Given the description of an element on the screen output the (x, y) to click on. 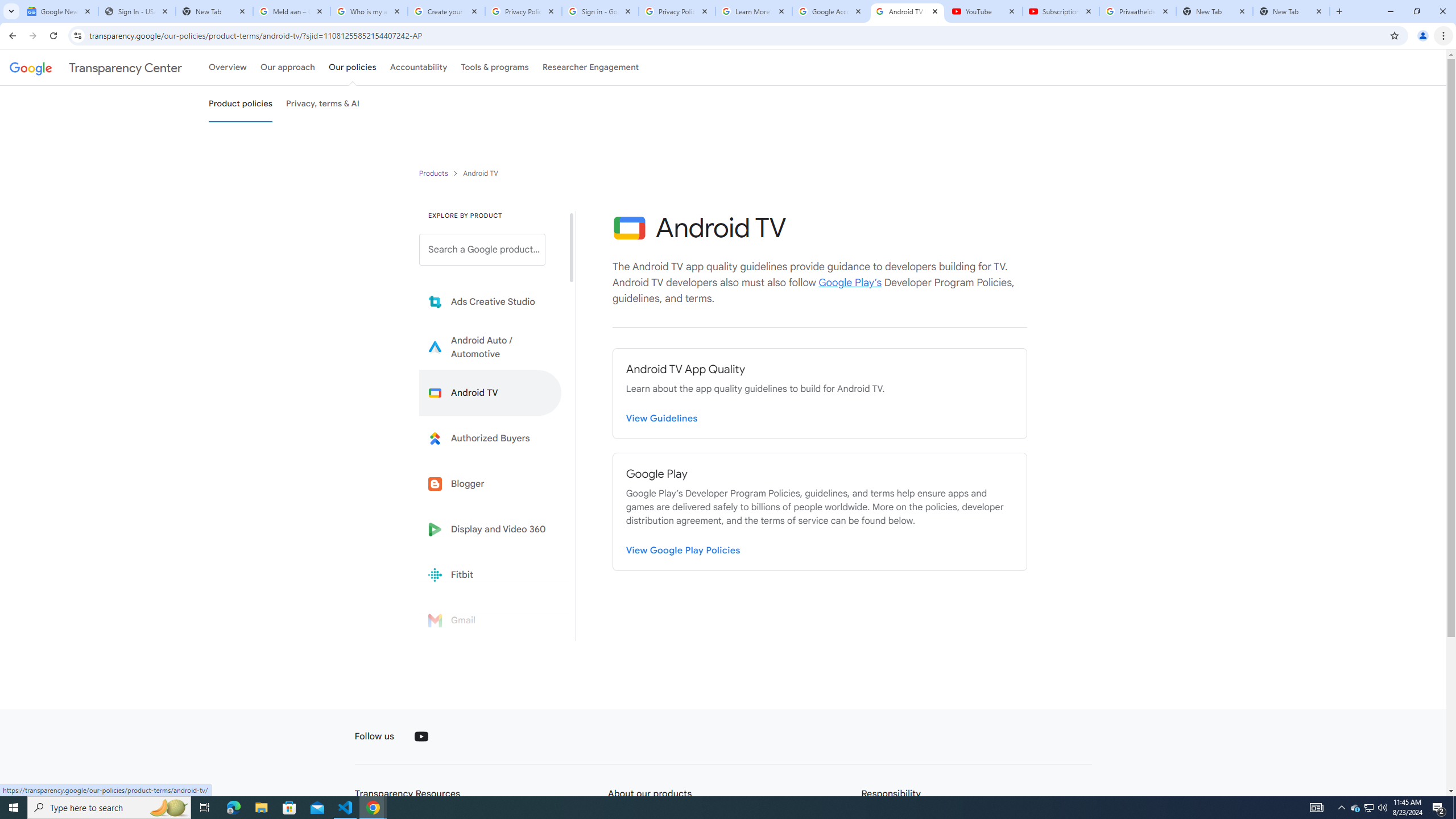
Learn more about Ads Creative Studio (490, 302)
View Google Play Policies (683, 547)
Android TV Policies and Guidelines - Transparency Center (906, 11)
Fitbit (490, 574)
Privacy, terms & AI (322, 103)
Learn more about Android TV (490, 393)
Accountability (418, 67)
Gmail (490, 619)
